Given the description of an element on the screen output the (x, y) to click on. 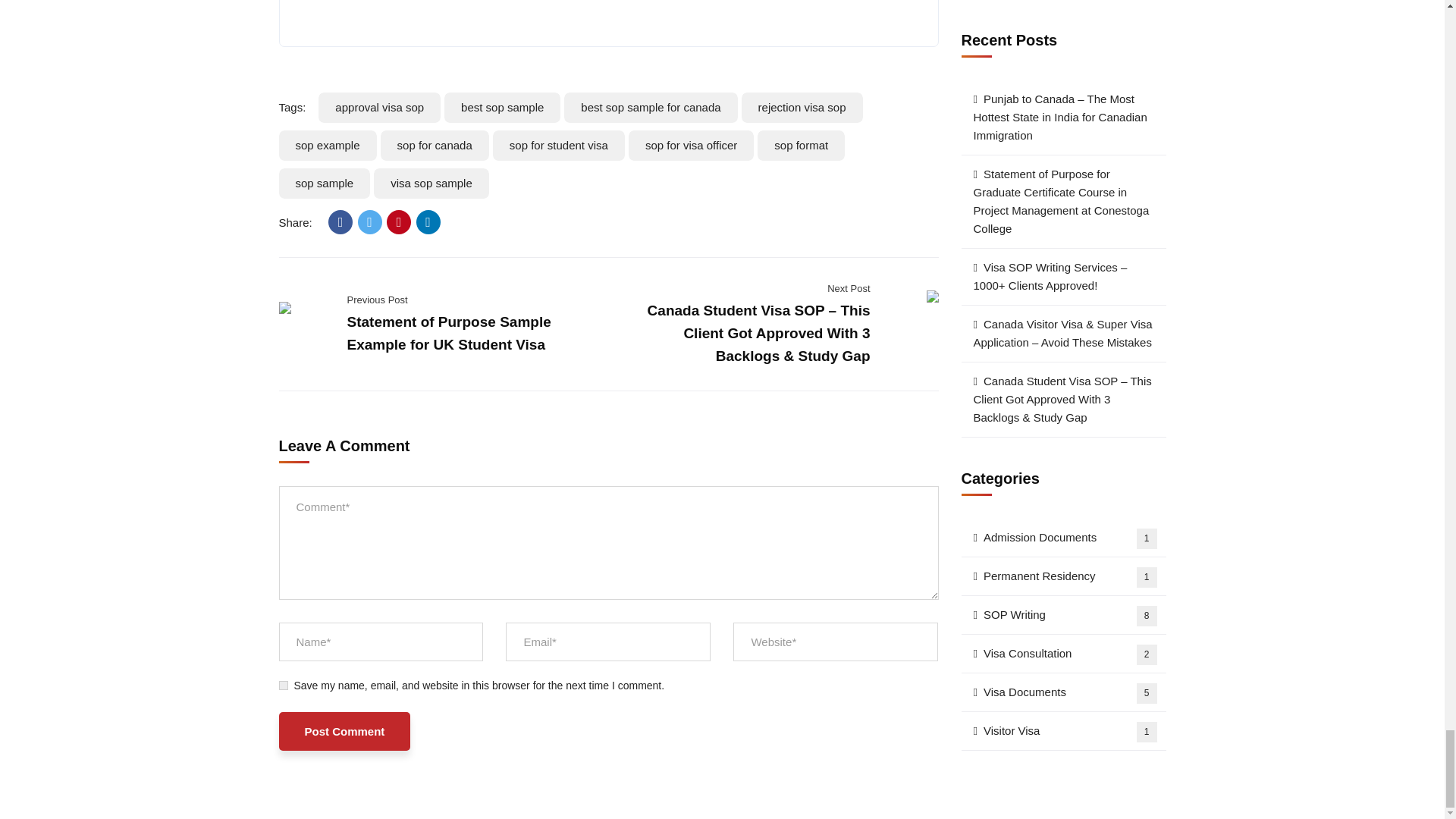
Pinterest (398, 221)
approval visa sop (379, 107)
Post Comment (344, 731)
LinkedIn (428, 221)
Twitter (369, 221)
Facebook (340, 221)
